Given the description of an element on the screen output the (x, y) to click on. 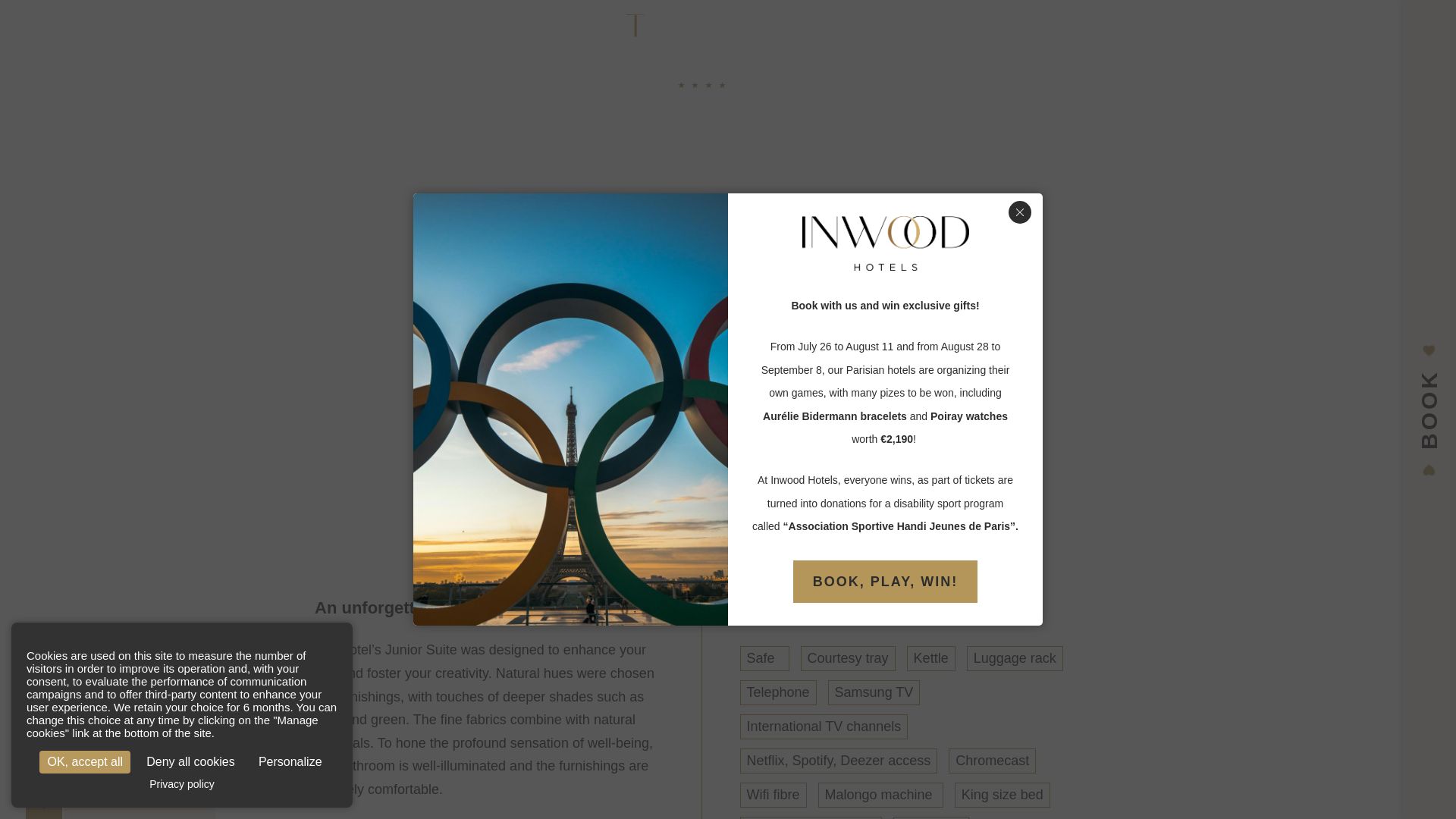
SEND (139, 392)
